Given the description of an element on the screen output the (x, y) to click on. 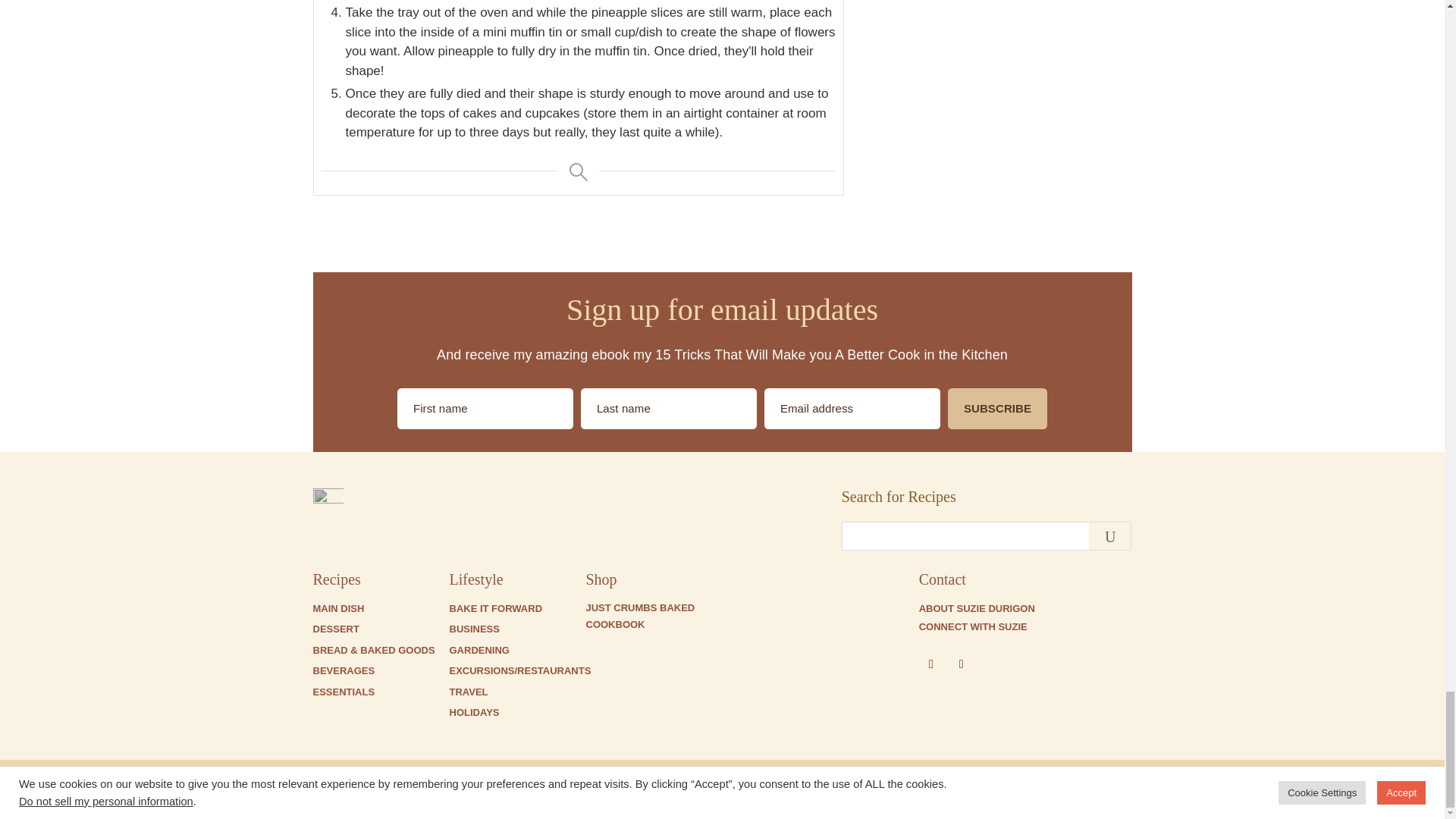
SUBSCRIBE (996, 408)
BEVERAGES (343, 670)
Search (1110, 535)
BUSINESS (473, 629)
BAKE IT FORWARD (494, 608)
MAIN DISH (338, 608)
ESSENTIALS (343, 692)
Search (1110, 535)
Search (1110, 535)
DESSERT (335, 629)
